Given the description of an element on the screen output the (x, y) to click on. 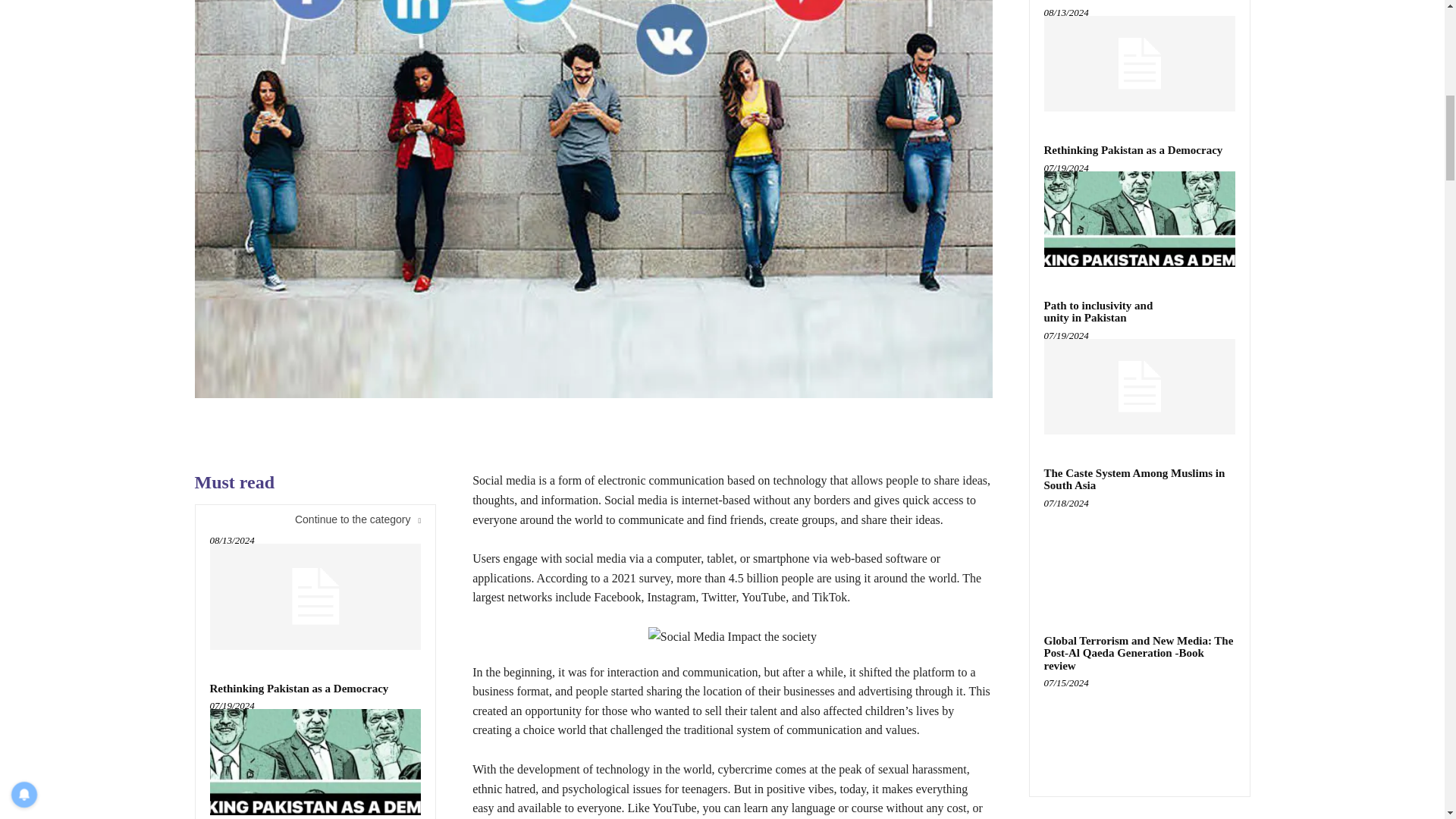
Rethinking Pakistan as a Democracy (298, 688)
Rethinking Pakistan as a Democracy (314, 761)
